Given the description of an element on the screen output the (x, y) to click on. 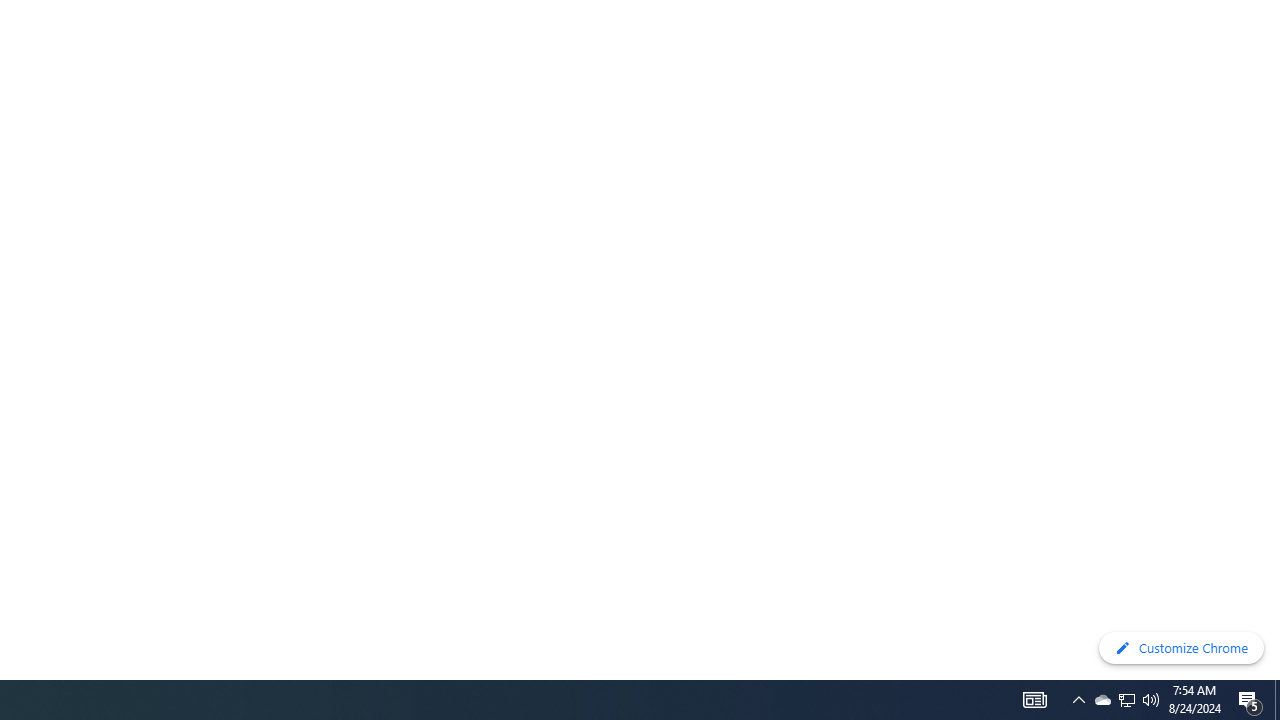
Customize Chrome (1181, 647)
